Given the description of an element on the screen output the (x, y) to click on. 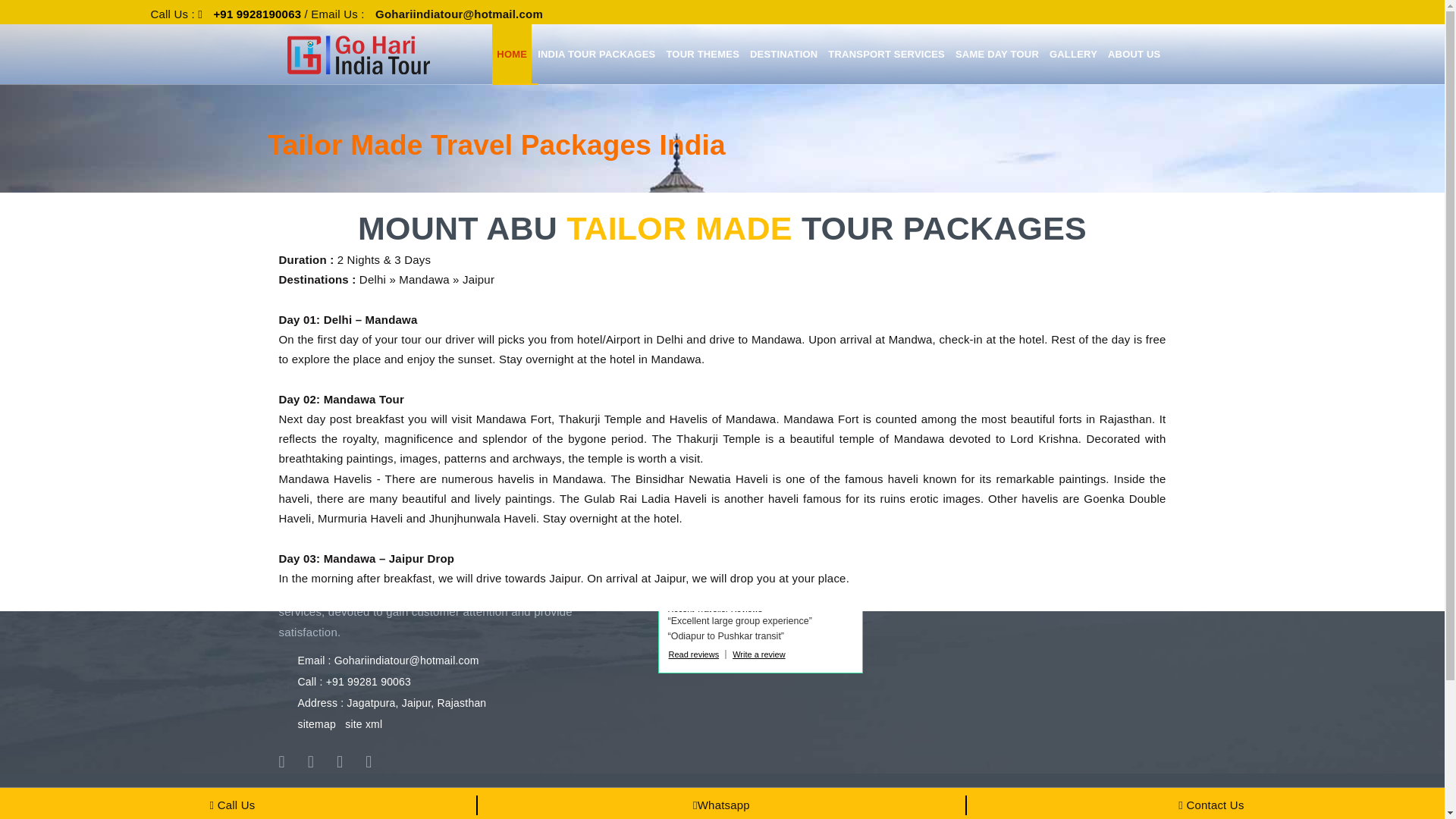
INDIA TOUR PACKAGES (595, 54)
TOUR THEMES (702, 54)
ABOUT US (1134, 54)
DESTINATION (783, 54)
SAME DAY TOUR (996, 54)
TRANSPORT SERVICES (886, 54)
Go Hari India Tour (758, 558)
GALLERY (1073, 54)
